Given the description of an element on the screen output the (x, y) to click on. 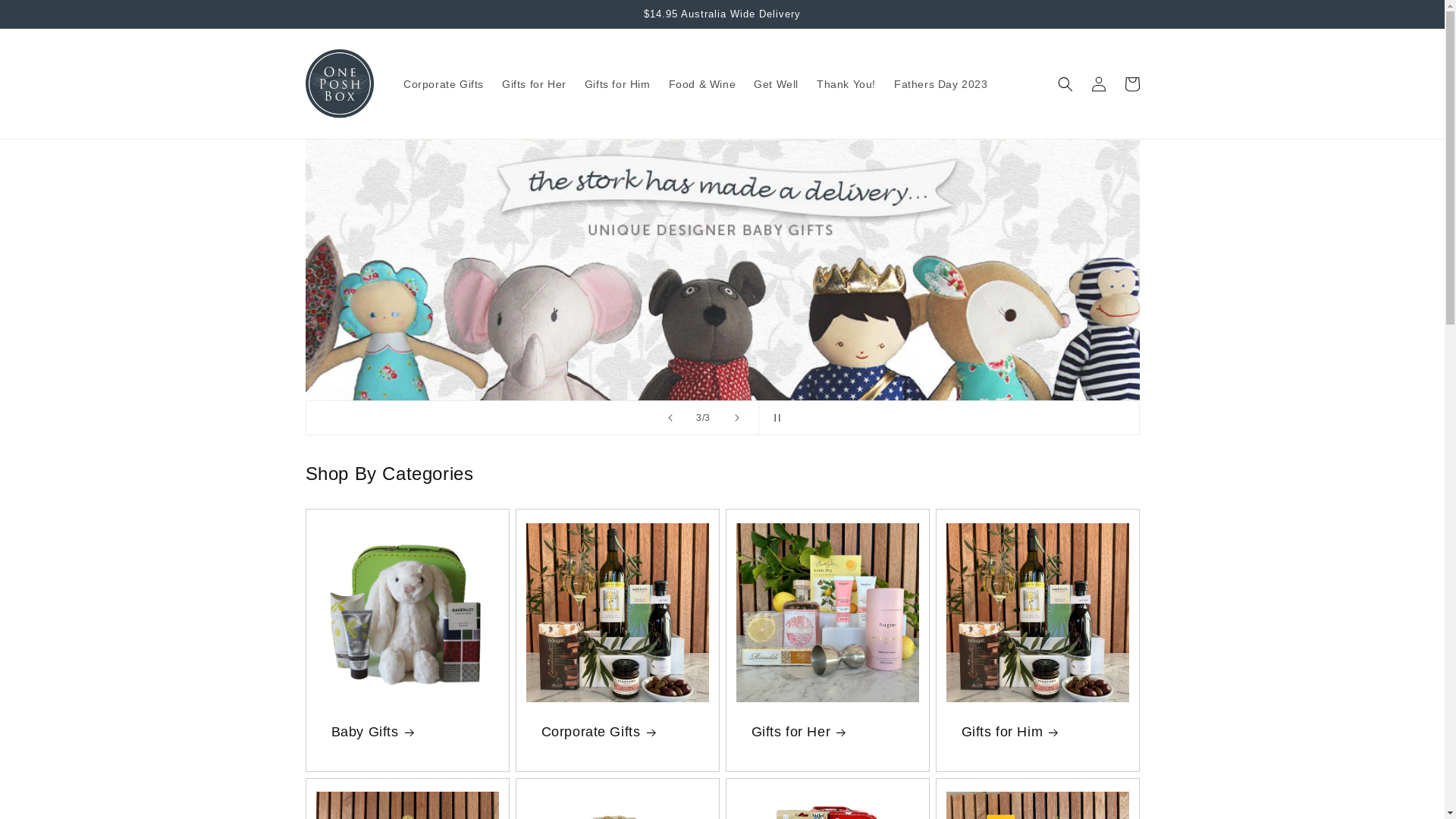
Gifts for Her Element type: text (826, 731)
Log in Element type: text (1097, 83)
Gifts for Him Element type: text (1037, 731)
Cart Element type: text (1131, 83)
Get Well Element type: text (775, 84)
Thank You! Element type: text (845, 84)
Gifts for Her Element type: text (533, 84)
Corporate Gifts Element type: text (443, 84)
Baby Gifts Element type: text (406, 731)
Food & Wine Element type: text (702, 84)
Corporate Gifts Element type: text (617, 731)
Gifts for Him Element type: text (617, 84)
Fathers Day 2023 Element type: text (940, 84)
